Given the description of an element on the screen output the (x, y) to click on. 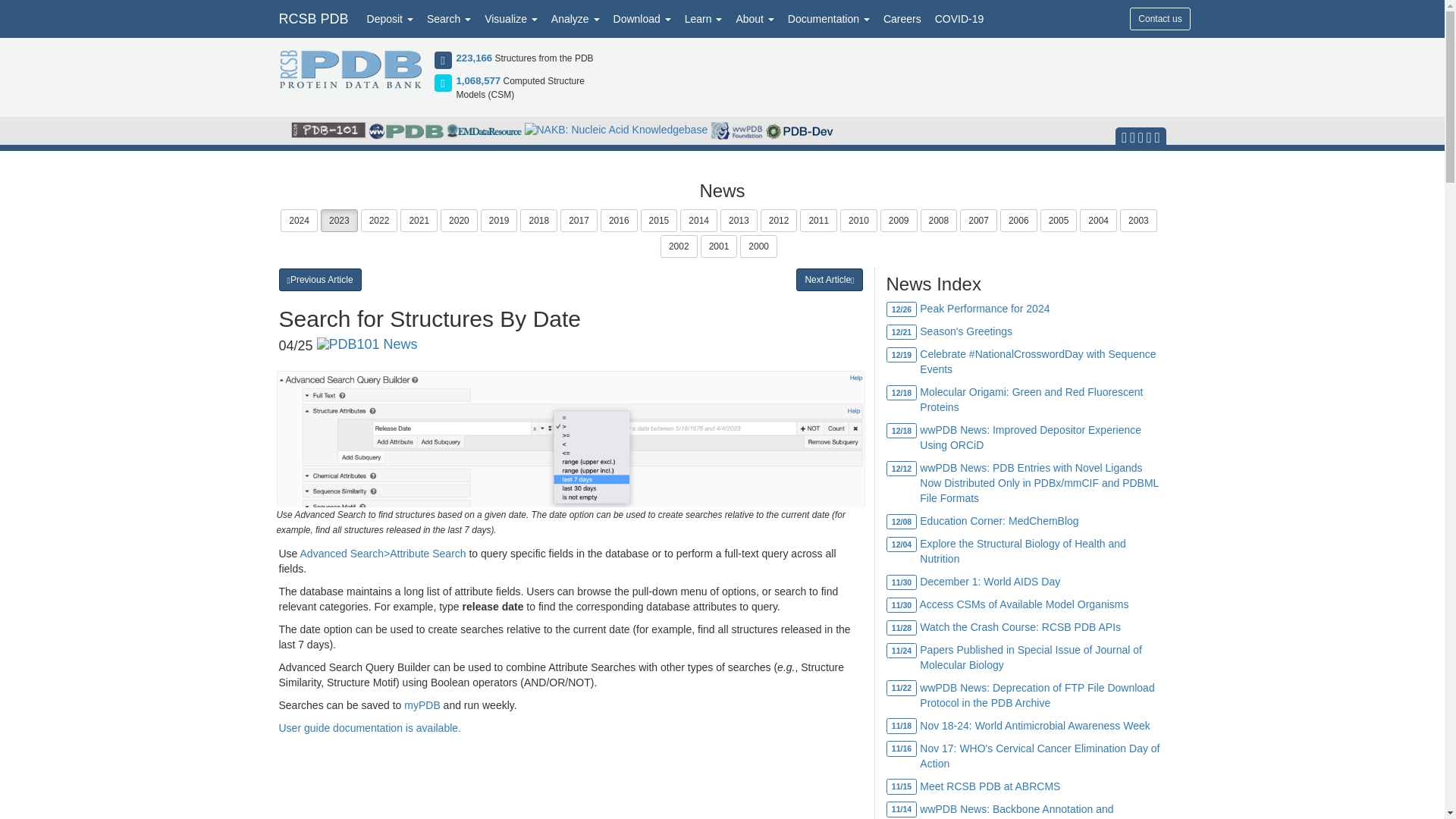
Analyze  (575, 18)
RCSB PDB (312, 18)
Visualize  (510, 18)
Deposit  (389, 18)
Search  (448, 18)
